Given the description of an element on the screen output the (x, y) to click on. 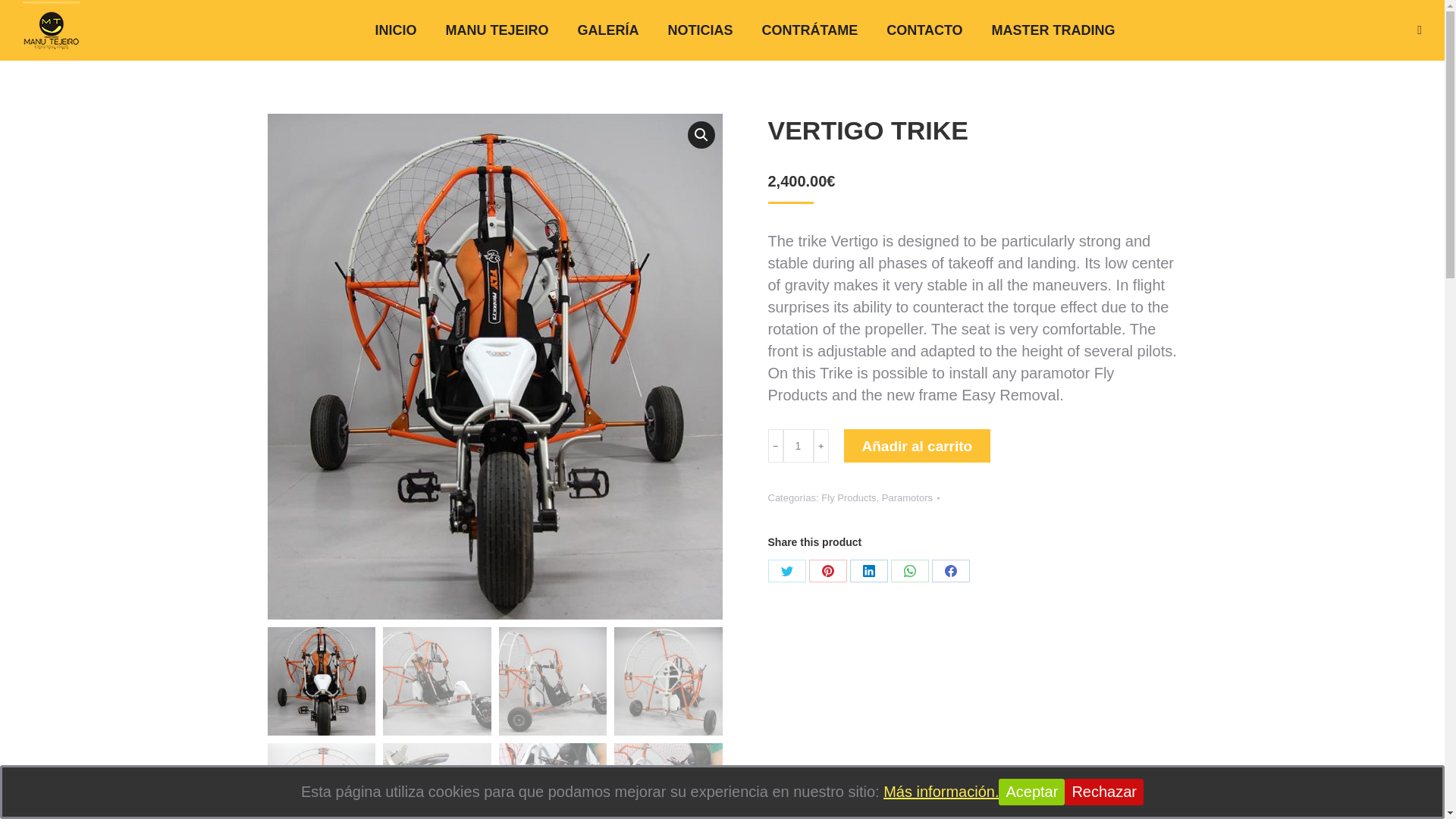
WhatsApp (908, 570)
LinkedIn (867, 570)
INICIO (396, 30)
1 (797, 445)
MANU TEJEIRO (497, 30)
CONTACTO (924, 30)
Ir! (21, 17)
NOTICIAS (701, 30)
Pinterest (826, 570)
Facebook (950, 570)
